Given the description of an element on the screen output the (x, y) to click on. 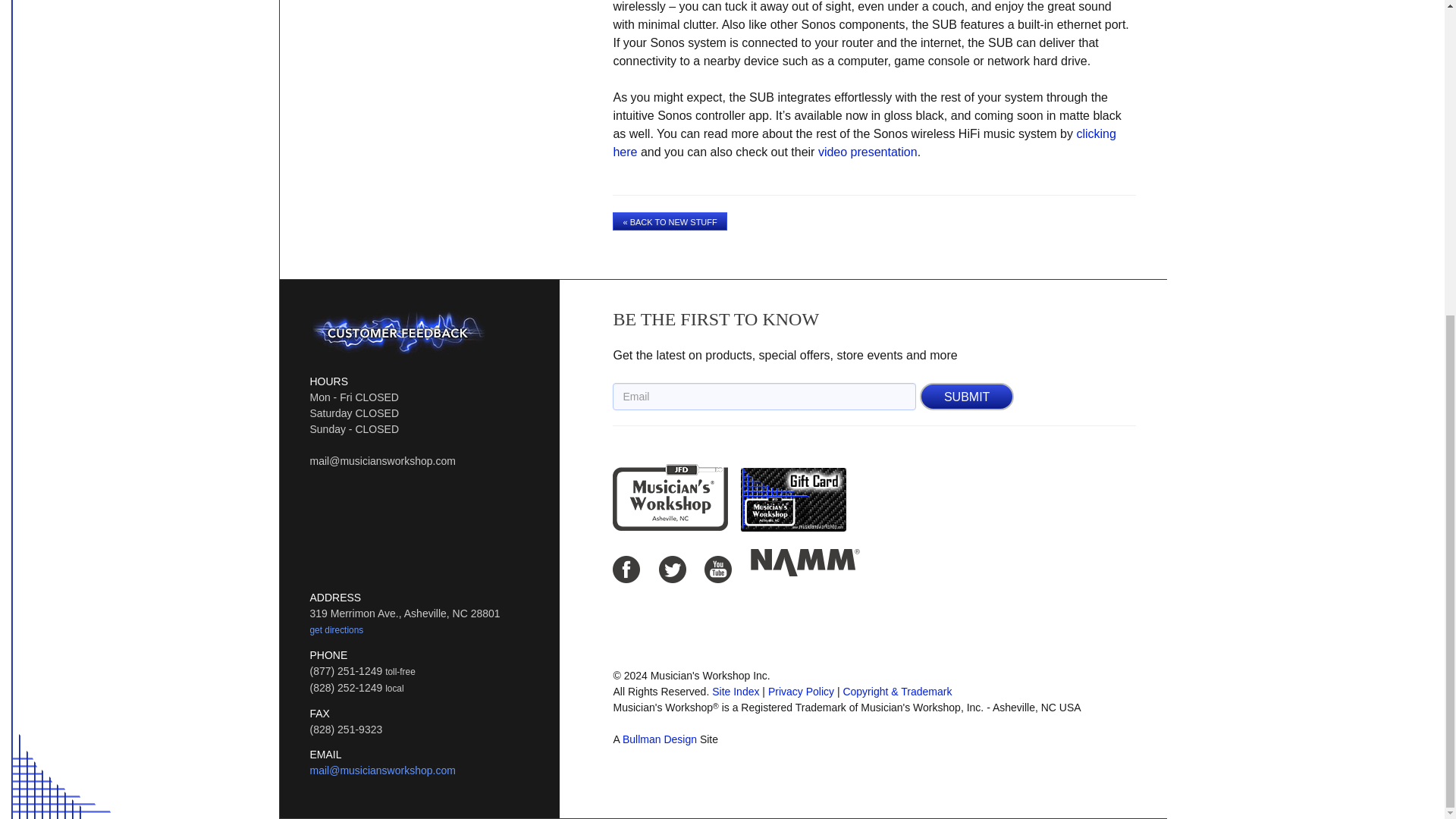
clicking here (863, 142)
Feedback (397, 332)
Site Index (734, 691)
Submit (966, 396)
Twitter (672, 569)
Privacy Policy (801, 691)
Bullman Design (660, 739)
Email us (381, 770)
Copyright and Trademark Notice (897, 691)
get directions (335, 629)
Back to New Stuff (669, 221)
Musician's Workshop (670, 497)
Submit (966, 396)
Bullman Design (660, 739)
Facebook (626, 569)
